Given the description of an element on the screen output the (x, y) to click on. 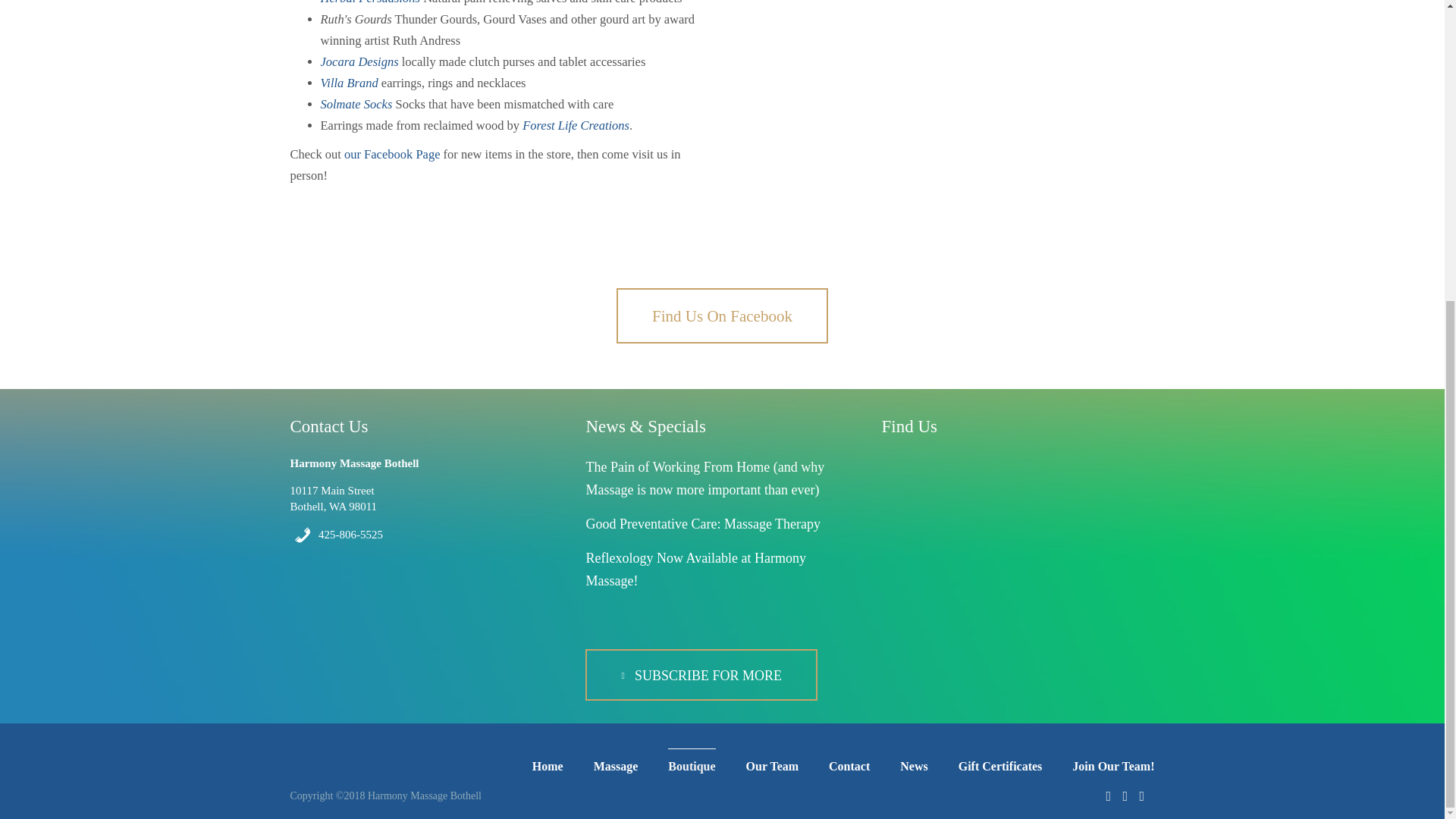
Villa Brand (348, 83)
Jocara Designs (358, 61)
our Facebook Page (391, 154)
Solmate Socks (355, 104)
3 (990, 49)
4 (1002, 49)
2 (978, 49)
1 (966, 49)
Herbal Persuasions (370, 2)
Forest Life Creations (575, 124)
